Given the description of an element on the screen output the (x, y) to click on. 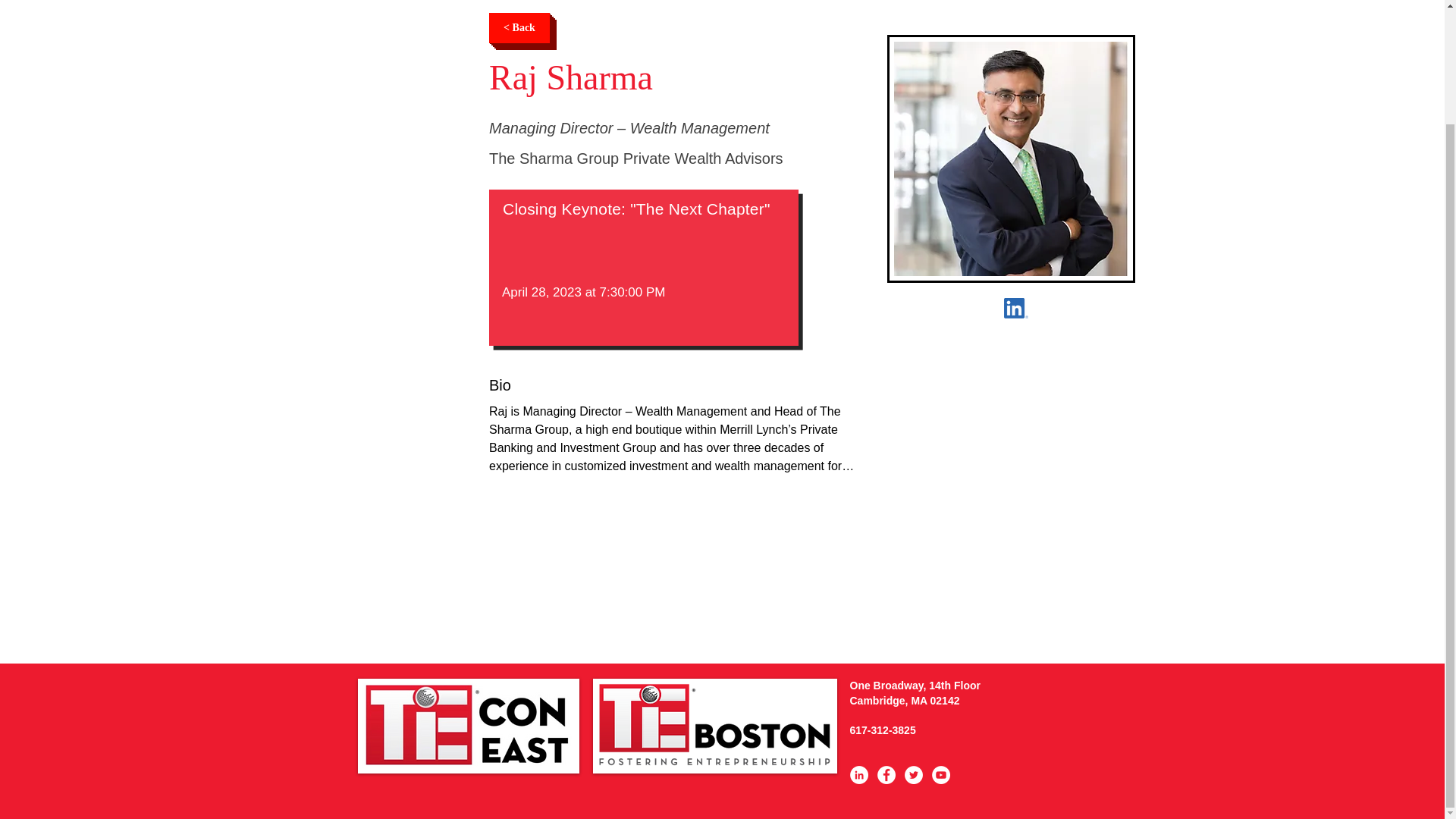
Raj Sharma (1015, 308)
